Given the description of an element on the screen output the (x, y) to click on. 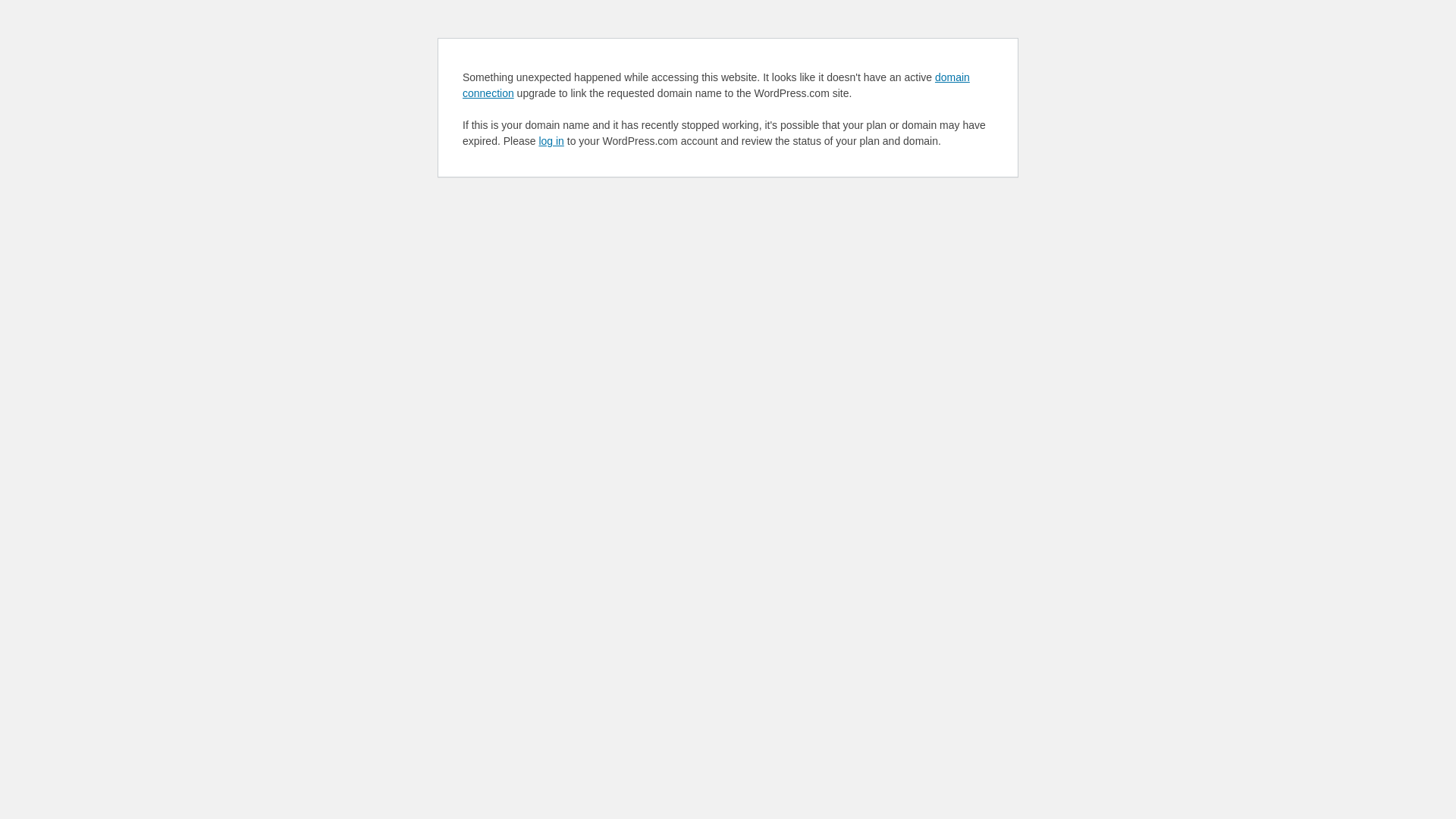
domain connection Element type: text (715, 85)
log in Element type: text (550, 140)
